Given the description of an element on the screen output the (x, y) to click on. 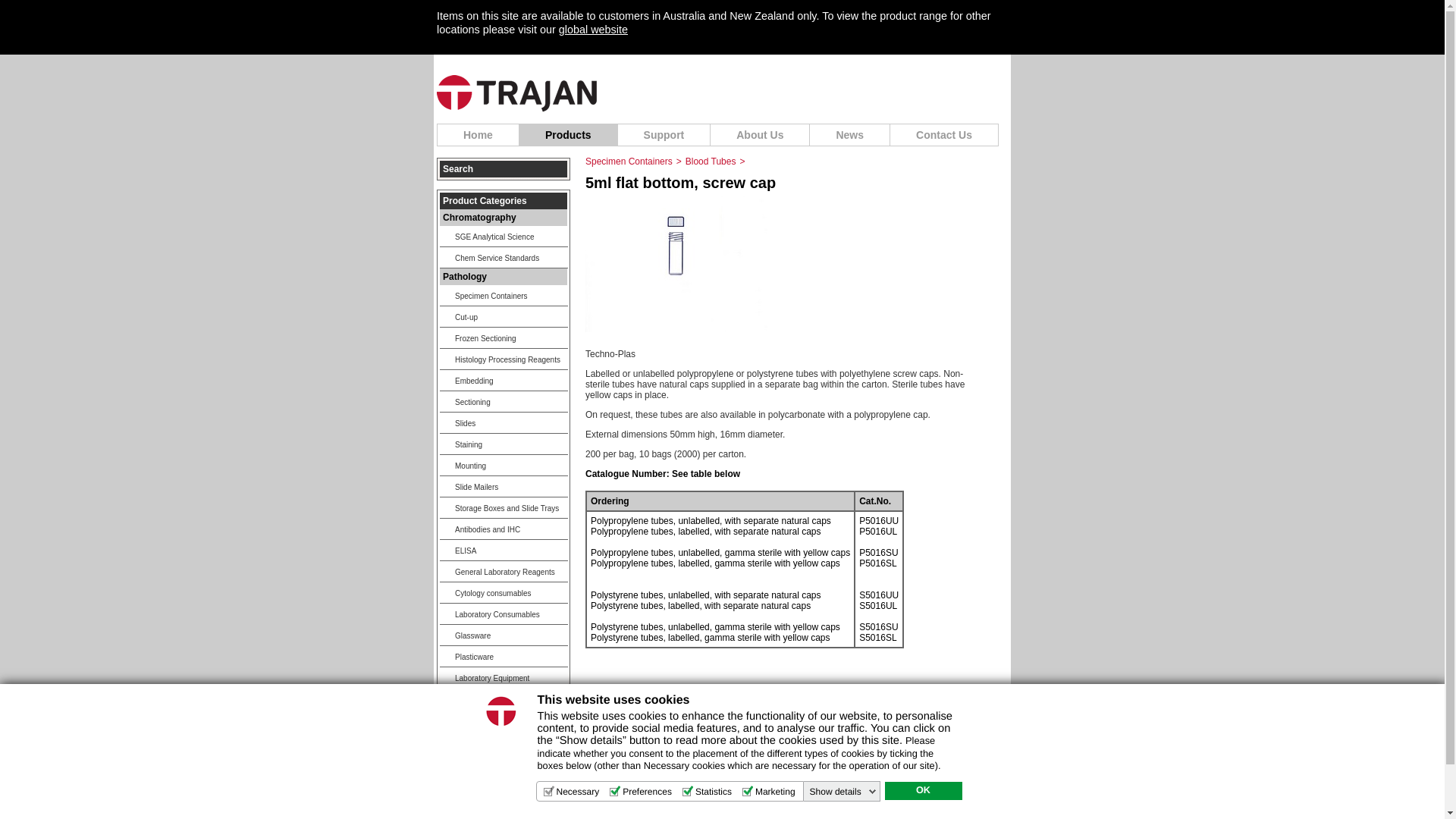
Show details Element type: text (842, 791)
Embedding Element type: text (503, 380)
Contact Us Element type: text (944, 134)
Home Element type: text (477, 134)
Laboratory Equipment Element type: text (503, 677)
Blood Tubes Element type: text (710, 161)
Products Element type: text (568, 134)
Slides Element type: text (503, 422)
Support Element type: text (664, 134)
News Element type: text (849, 134)
Laboratory Consumables Element type: text (503, 613)
Cut-up Element type: text (503, 316)
Safety/Decontamination Element type: text (503, 698)
5ml flat bottom, screw cap Element type: hover (676, 337)
Glassware Element type: text (503, 635)
Storage Boxes and Slide Trays Element type: text (503, 507)
About Us Element type: text (759, 134)
Sitemap Element type: text (768, 780)
Mounting Element type: text (503, 465)
Histology Processing Reagents Element type: text (503, 359)
General Laboratory Reagents Element type: text (503, 571)
Sectioning Element type: text (503, 401)
Staining Element type: text (503, 444)
Privacy Policy Element type: text (716, 780)
Slide Mailers Element type: text (503, 486)
Specimen Containers Element type: text (628, 161)
Chem Service Standards Element type: text (503, 257)
Antibodies and IHC Element type: text (503, 528)
OK Element type: text (922, 790)
ELISA Element type: text (503, 550)
Specimen Containers Element type: text (503, 295)
Pathology Laboratory and Laboratory Supplies | Grale HDS Element type: hover (516, 93)
Cytology consumables Element type: text (503, 592)
Legal Element type: text (669, 780)
global website Element type: text (592, 29)
Frozen Sectioning Element type: text (503, 337)
SGE Analytical Science Element type: text (503, 236)
Plasticware Element type: text (503, 656)
